Given the description of an element on the screen output the (x, y) to click on. 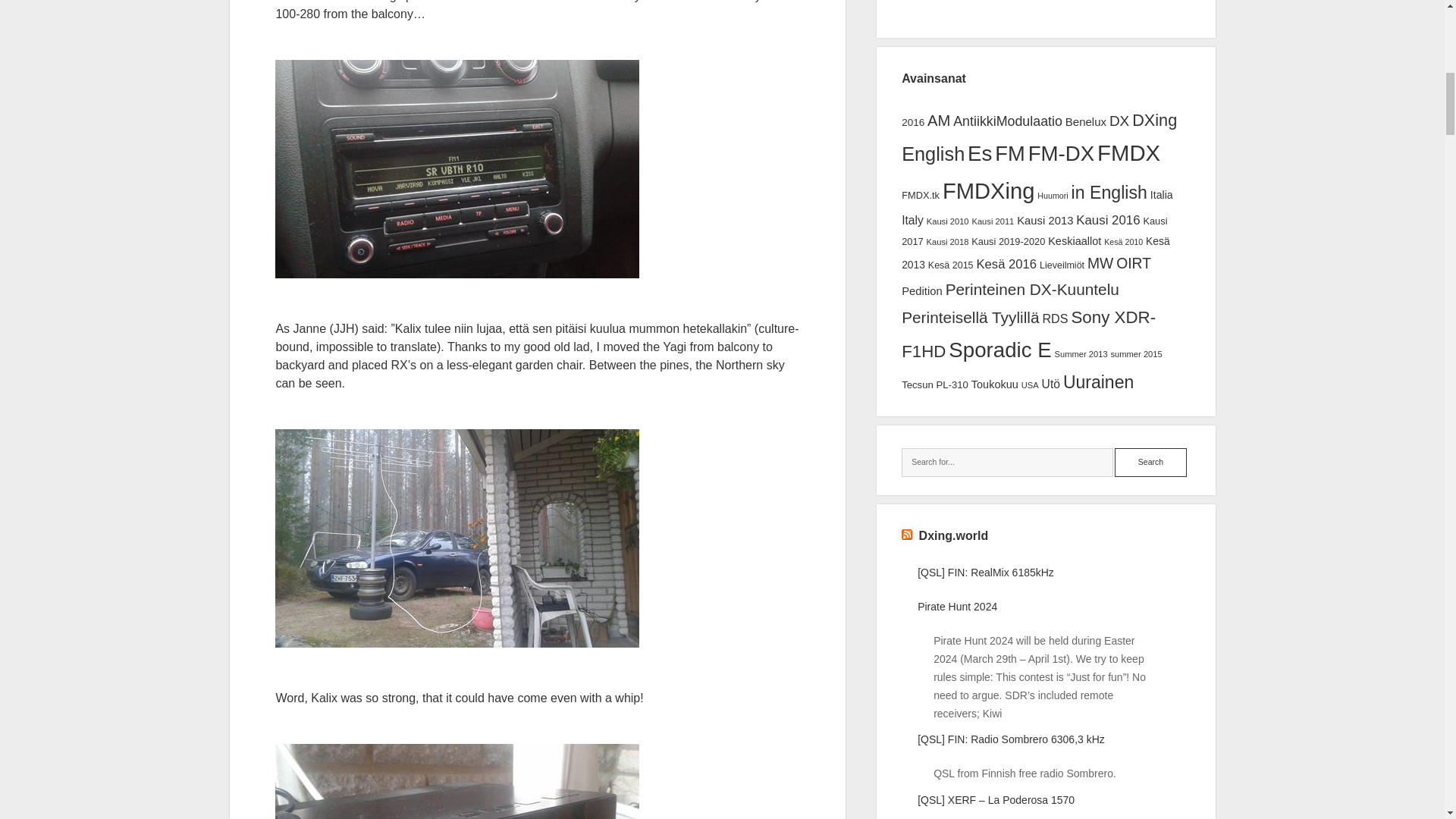
Search (1150, 461)
Search (1150, 461)
